Given the description of an element on the screen output the (x, y) to click on. 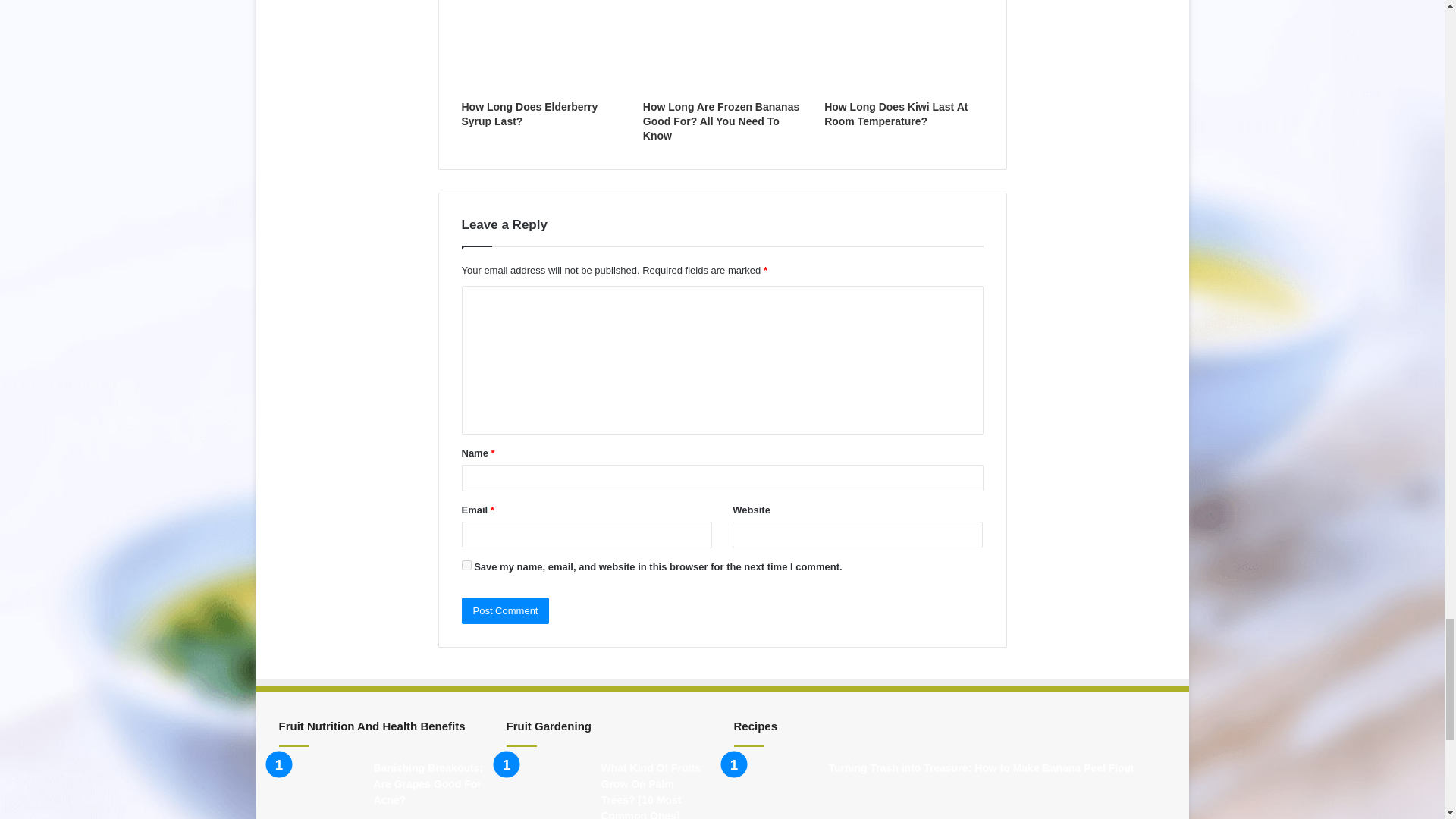
yes (465, 565)
Post Comment (504, 610)
